Given the description of an element on the screen output the (x, y) to click on. 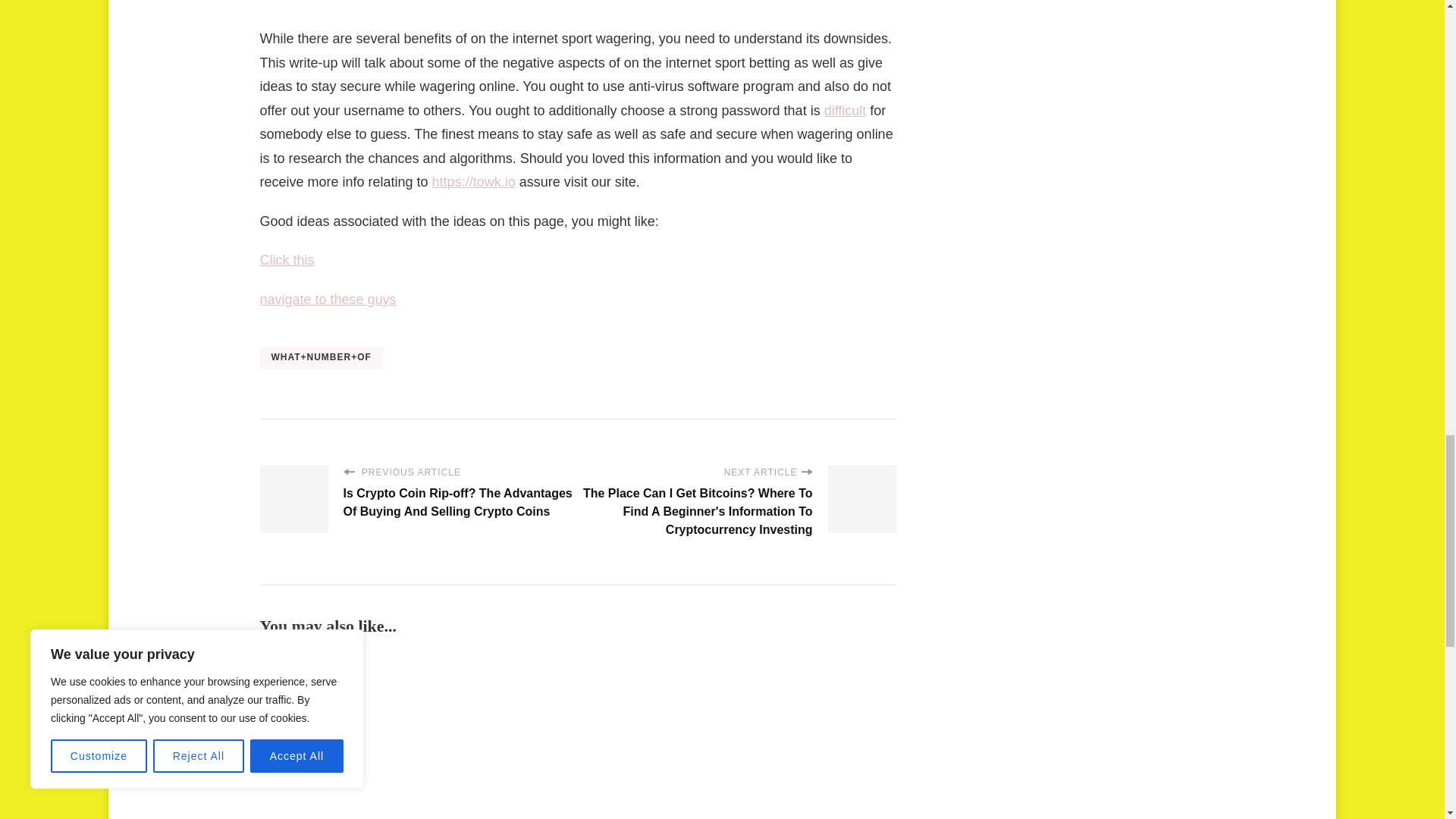
difficult (845, 110)
Click this (286, 259)
navigate to these guys (327, 299)
